Given the description of an element on the screen output the (x, y) to click on. 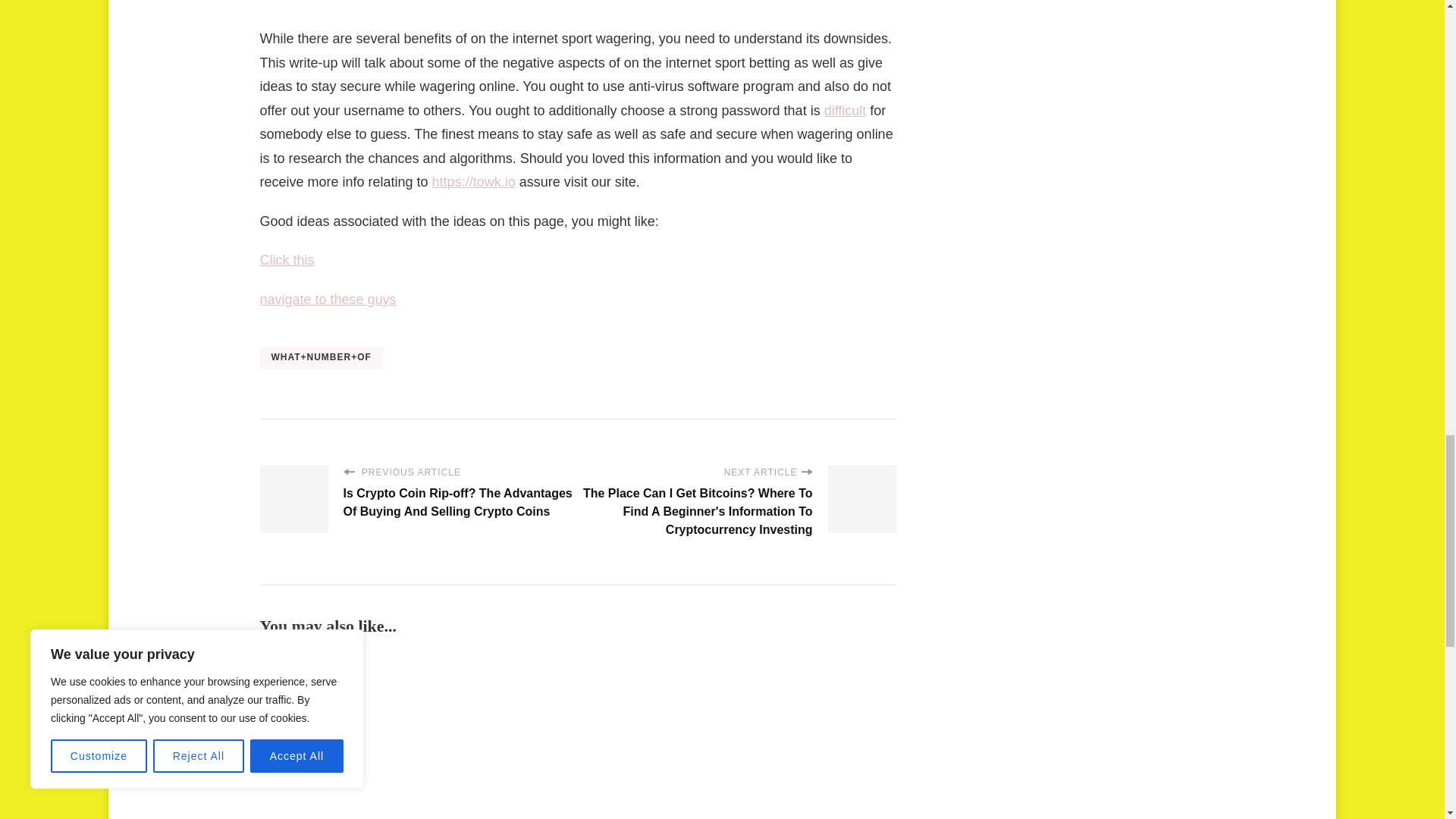
difficult (845, 110)
Click this (286, 259)
navigate to these guys (327, 299)
